Given the description of an element on the screen output the (x, y) to click on. 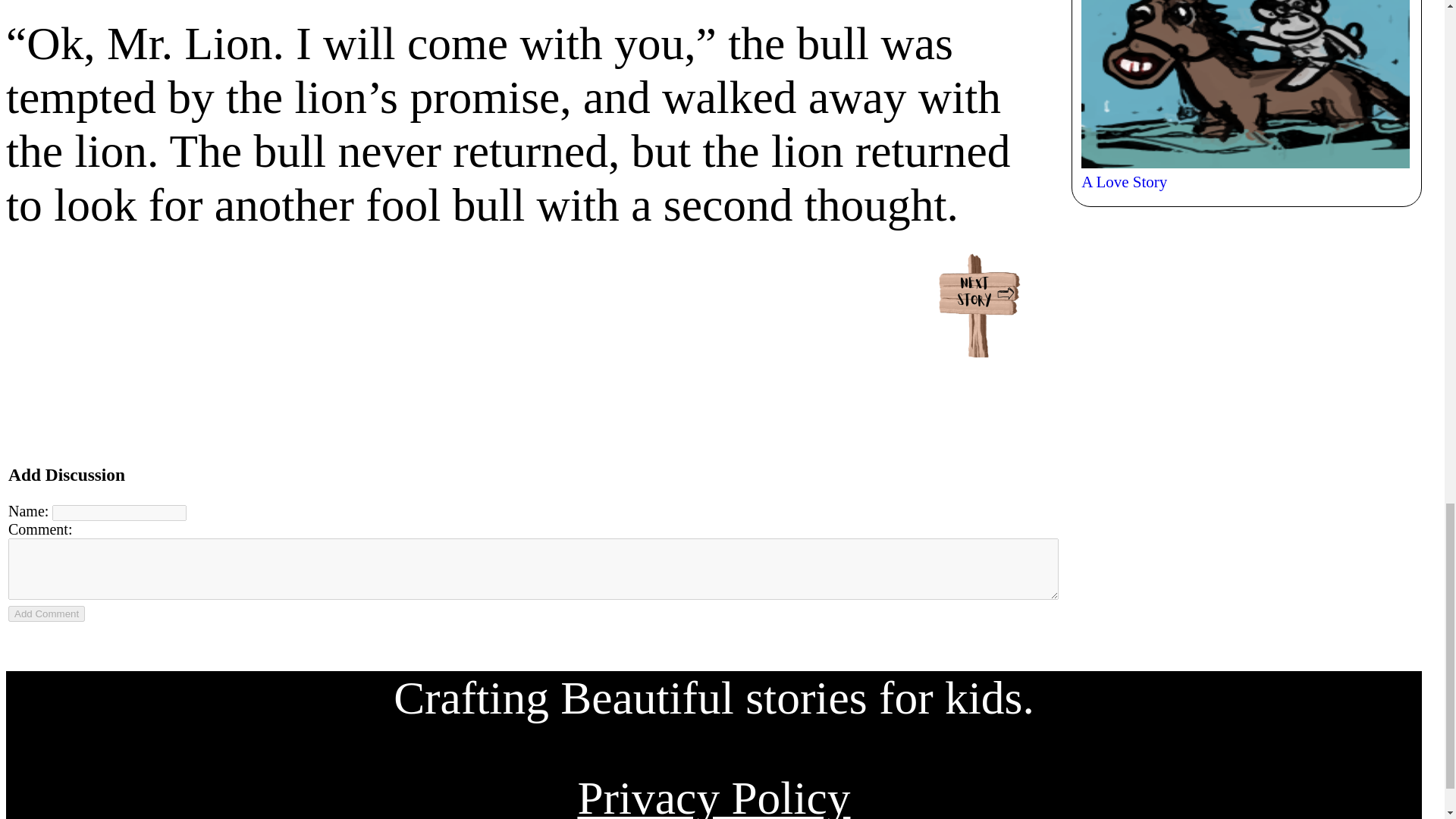
Add Comment (46, 613)
